Given the description of an element on the screen output the (x, y) to click on. 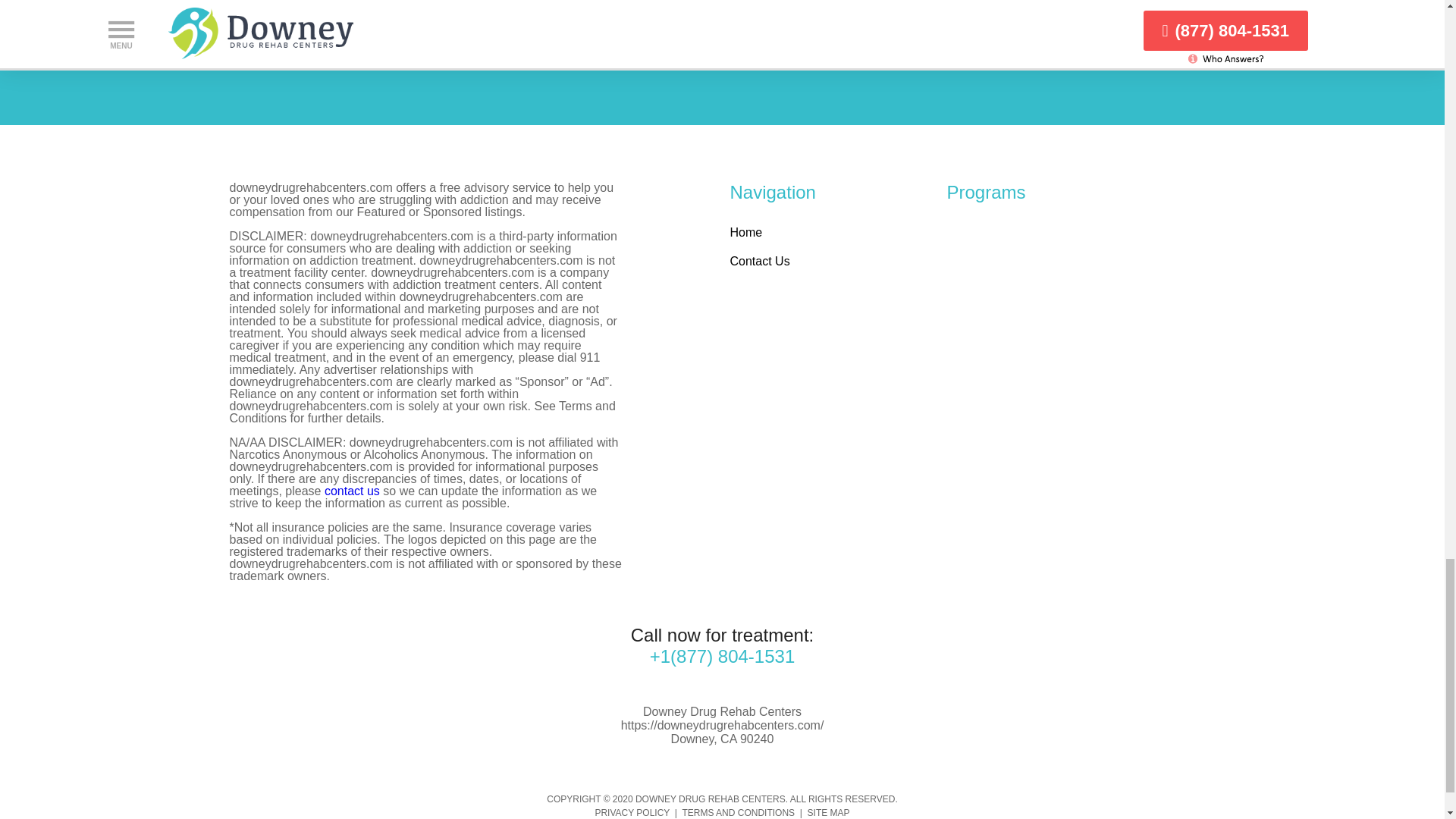
PRIVACY POLICY (631, 812)
TERMS AND CONDITIONS (737, 812)
contact us (352, 490)
SITE MAP (829, 812)
Contact Us (759, 260)
Home (745, 232)
